Given the description of an element on the screen output the (x, y) to click on. 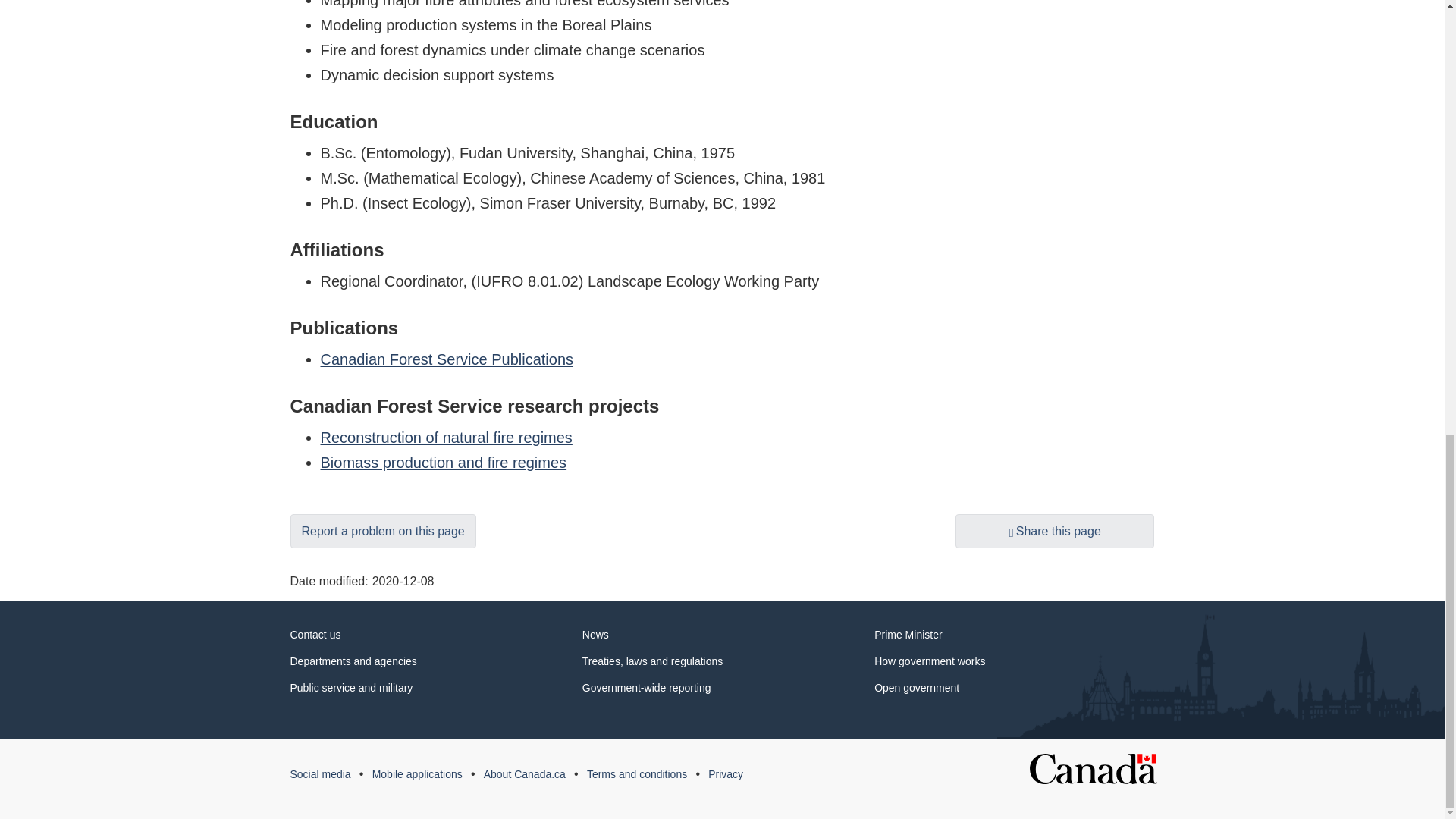
Reconstruction of natural fire regimes (446, 437)
Report a problem on this page (382, 530)
Biomass production and fire regimes (443, 462)
Canadian Forest Service Publications (446, 359)
